Given the description of an element on the screen output the (x, y) to click on. 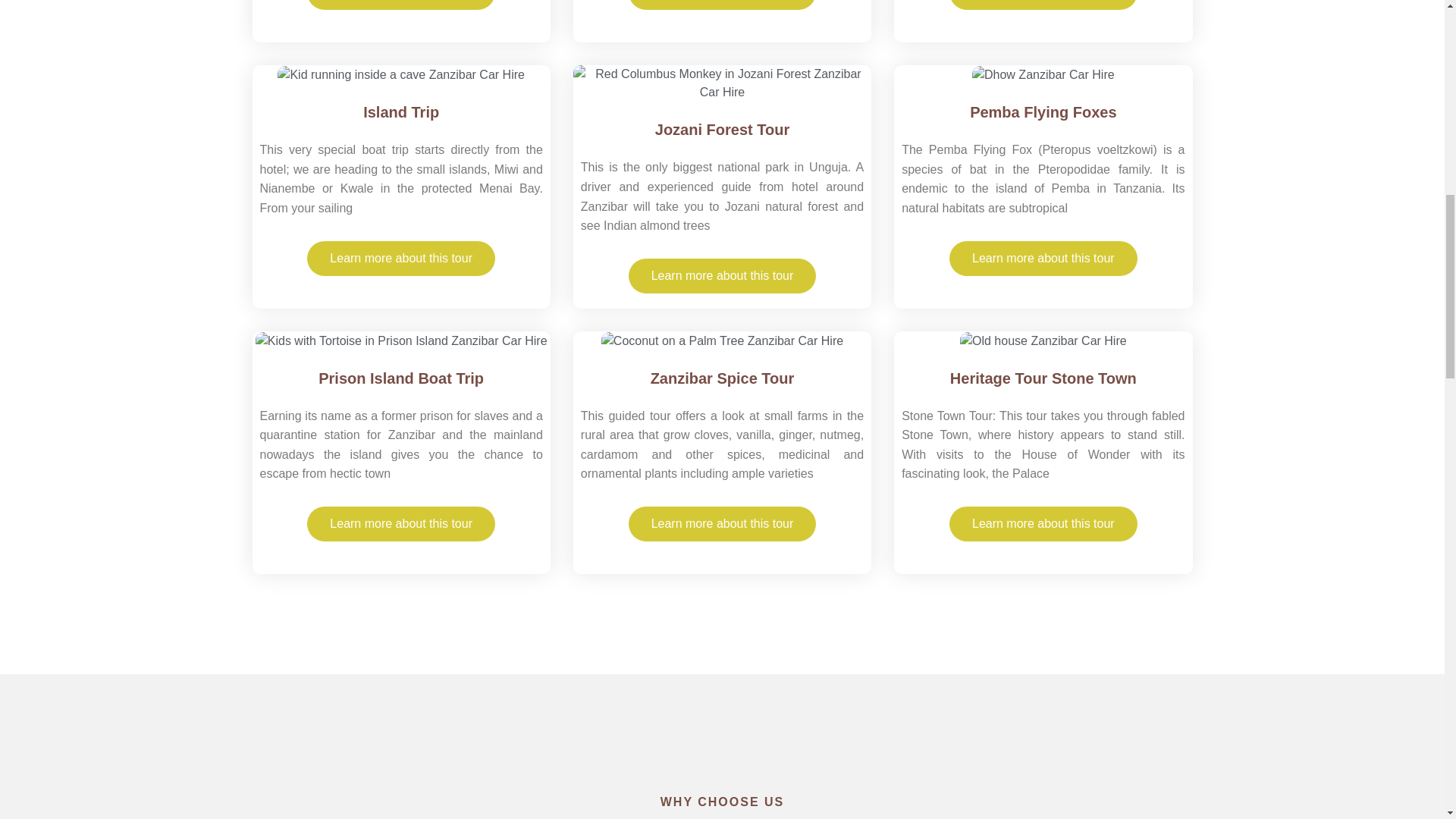
jozani-tour-min (721, 83)
island-tour-min (401, 75)
Pemba-tour-min (1043, 75)
Prison-tour-min (401, 341)
heritage-tour-min (1042, 341)
spice-tour-min (722, 341)
